Given the description of an element on the screen output the (x, y) to click on. 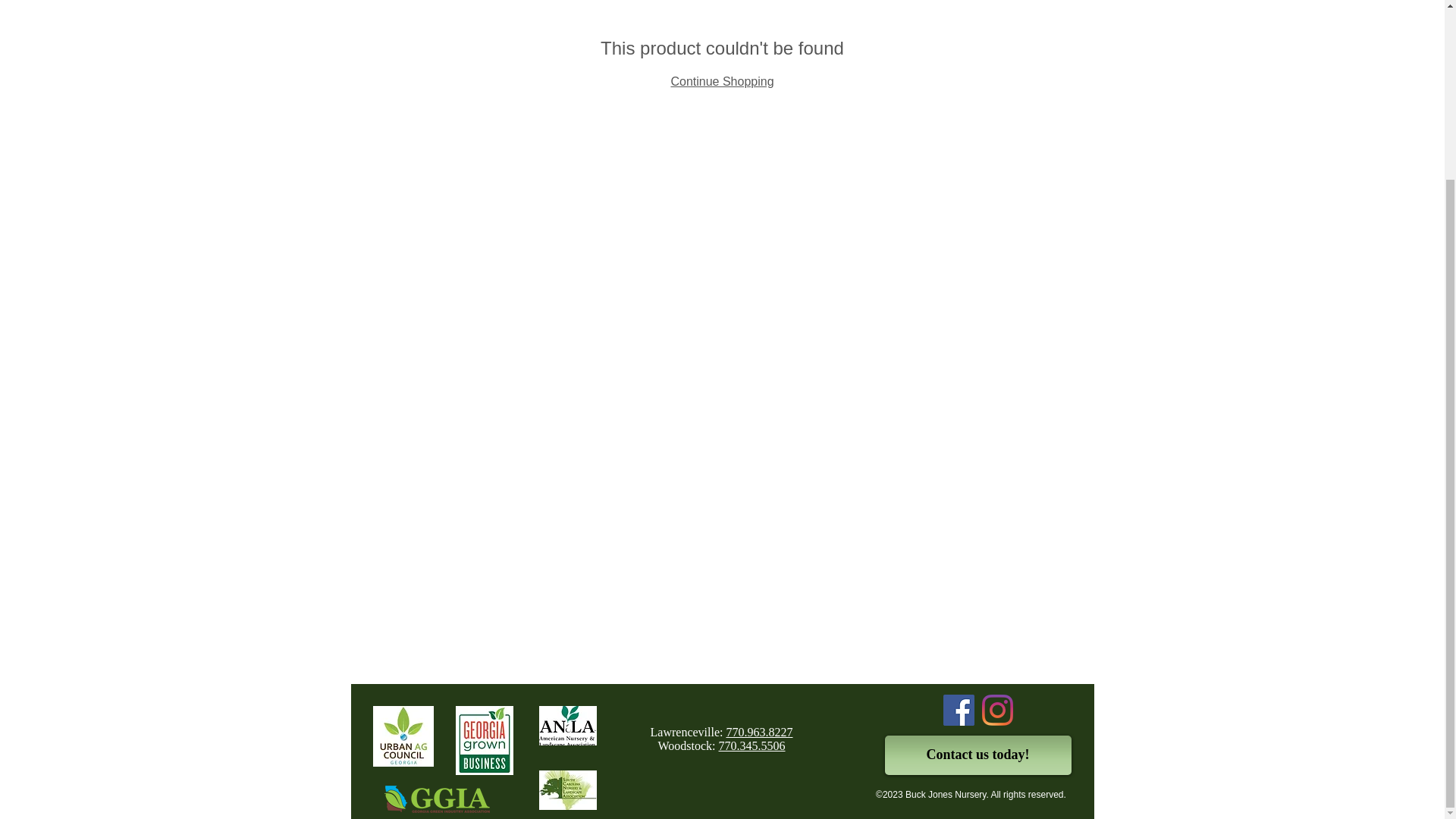
770.963.8227 (758, 731)
Continue Shopping (721, 81)
770.345.5506 (752, 745)
Contact us today! (976, 754)
